Given the description of an element on the screen output the (x, y) to click on. 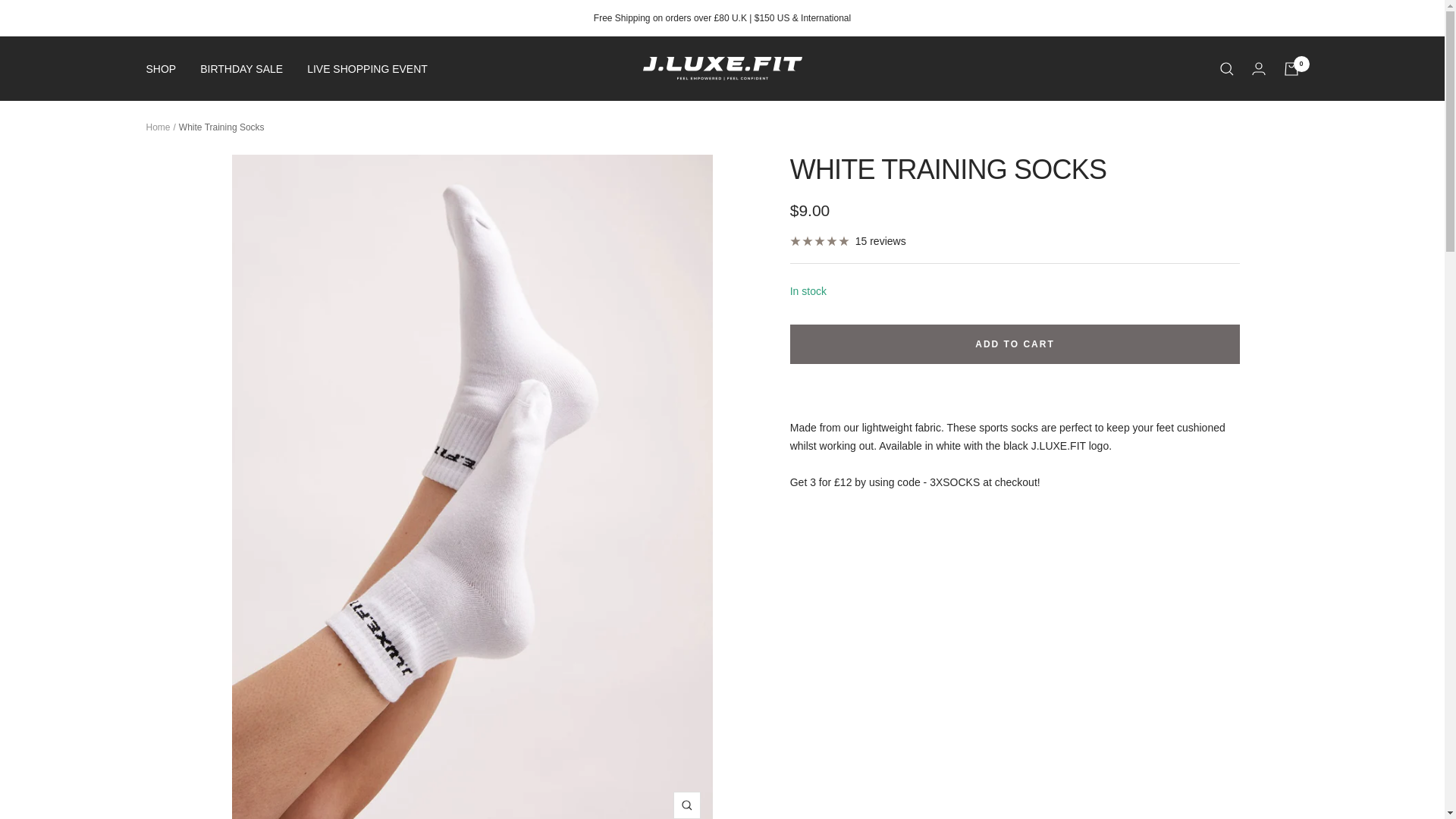
0 (1290, 69)
J.LUXE.FIT (722, 68)
ADD TO CART (1015, 343)
LIVE SHOPPING EVENT (367, 68)
15 reviews (847, 240)
Zoom (686, 805)
BIRTHDAY SALE (241, 68)
Home (157, 127)
SHOP (160, 68)
